Given the description of an element on the screen output the (x, y) to click on. 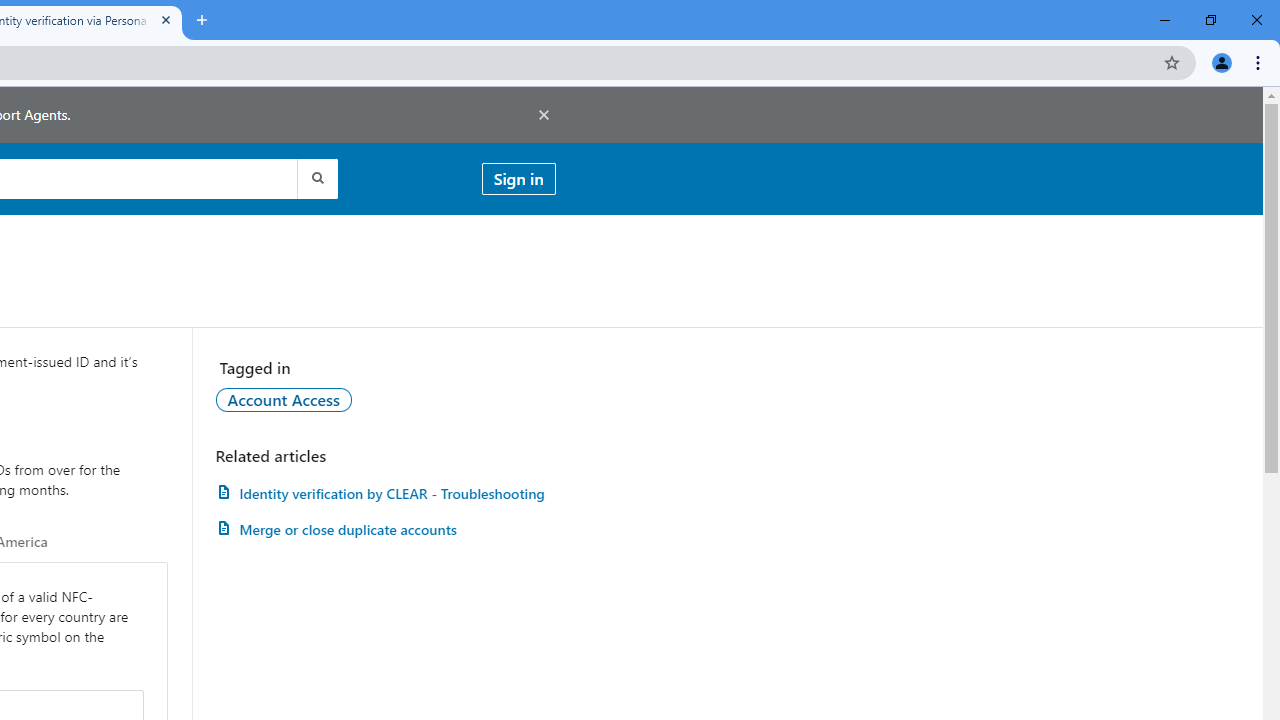
AutomationID: article-link-a1457505 (385, 493)
